Given the description of an element on the screen output the (x, y) to click on. 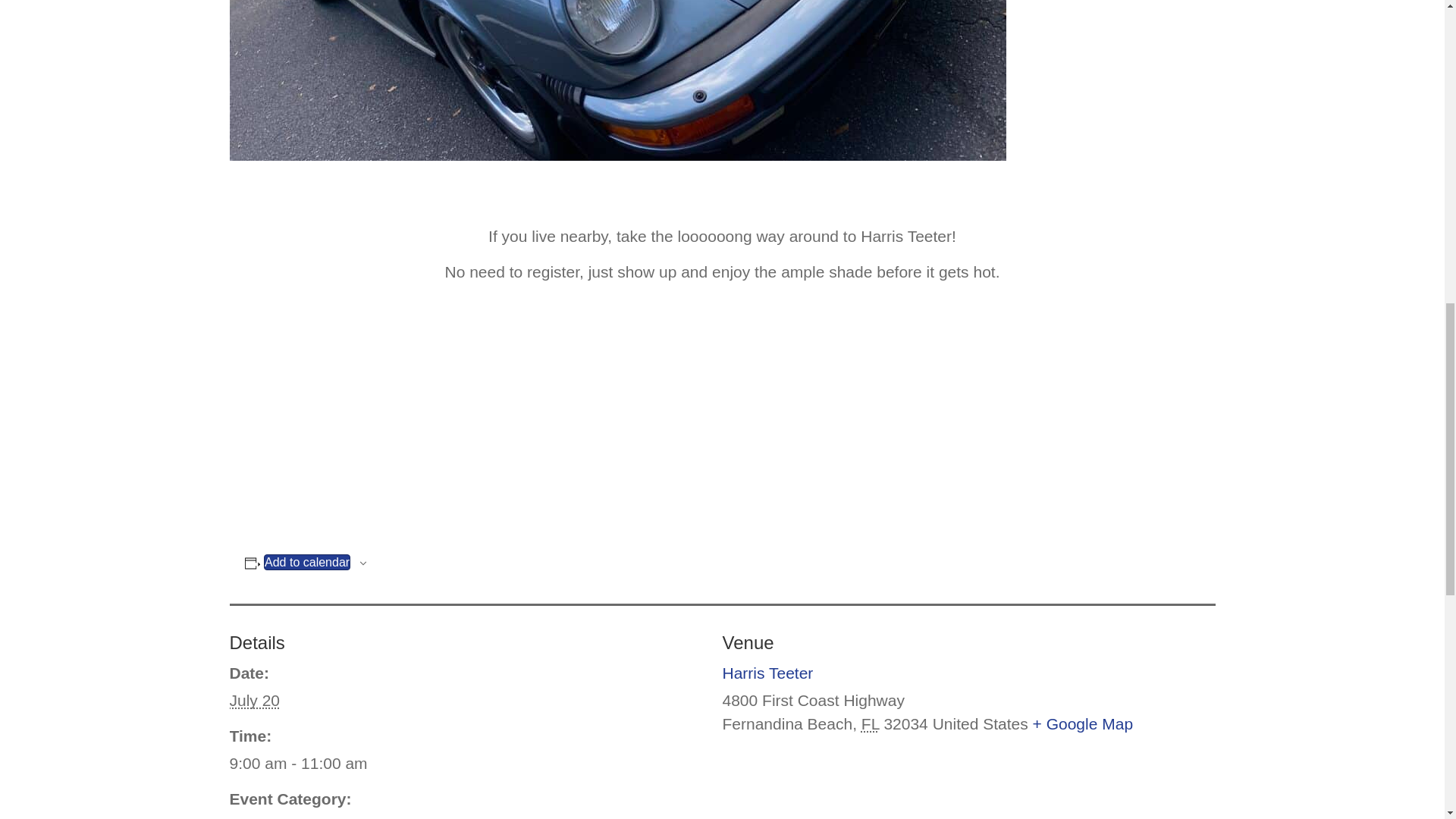
Harris Teeter (767, 672)
Add to calendar (306, 562)
2024-07-20 (253, 700)
Florida (870, 723)
2024-07-20 (465, 763)
Click to view a Google Map (1083, 723)
